Given the description of an element on the screen output the (x, y) to click on. 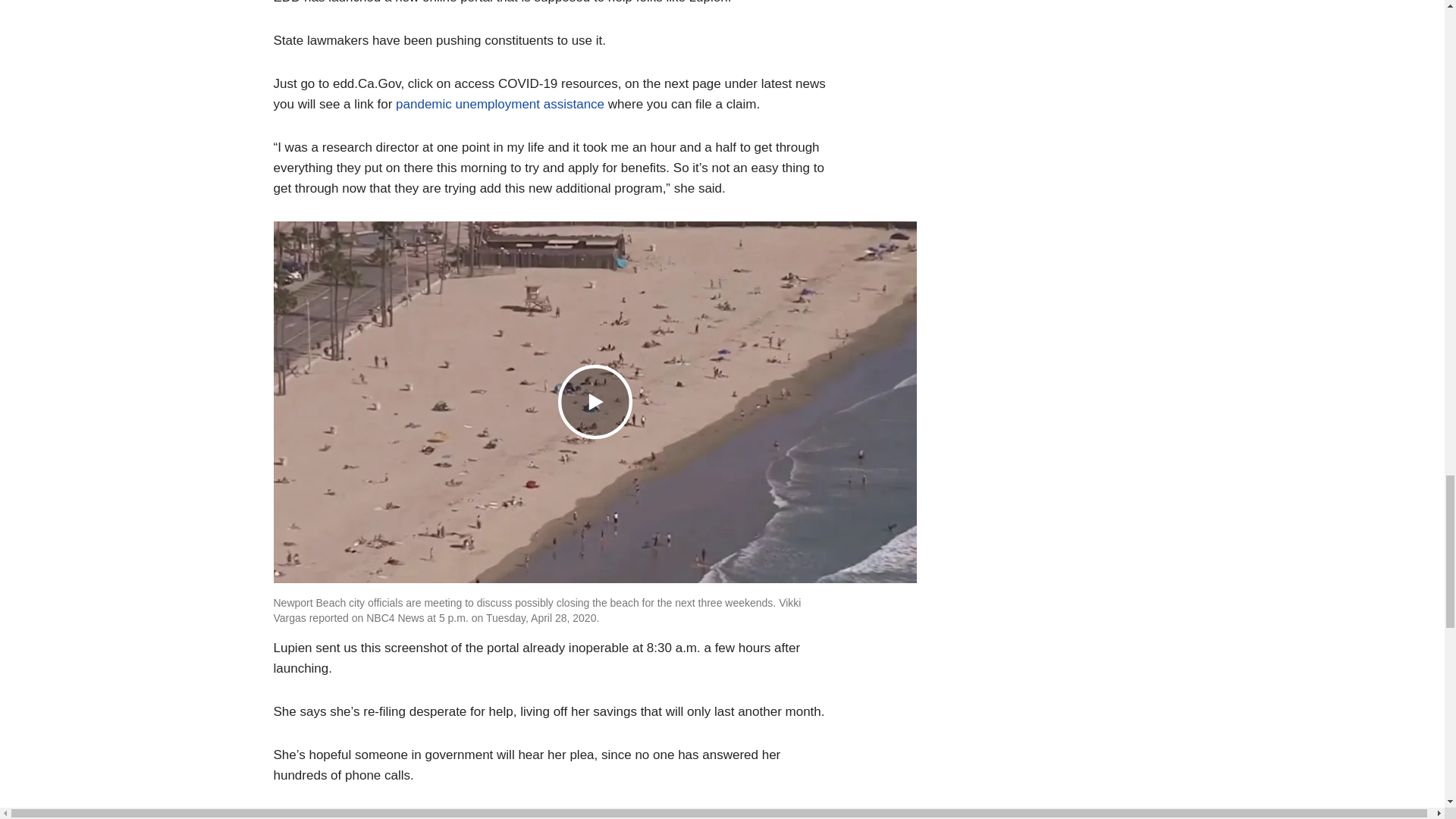
pandemic unemployment assistance (500, 104)
